Given the description of an element on the screen output the (x, y) to click on. 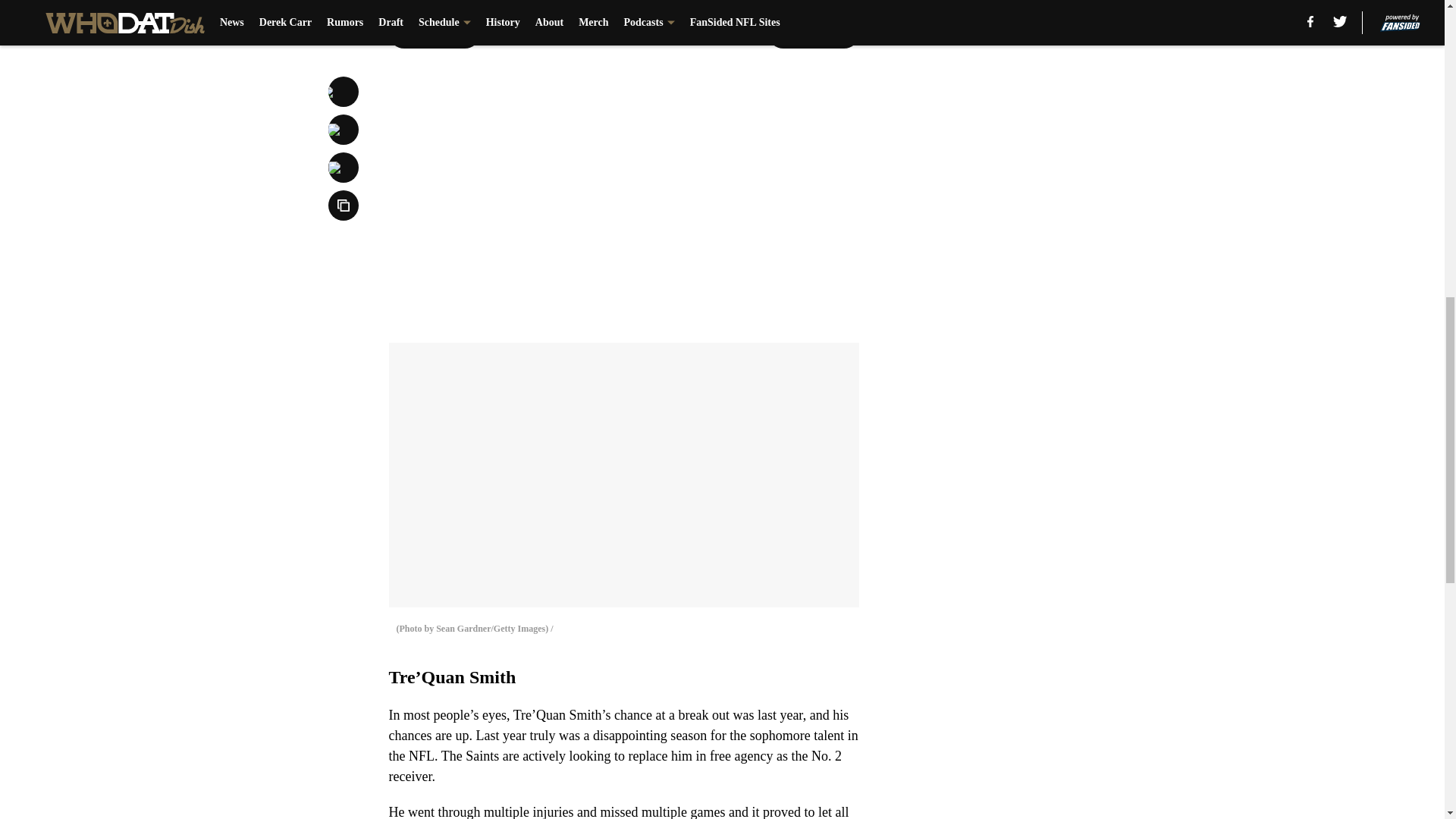
Prev (433, 33)
Next (813, 33)
